Given the description of an element on the screen output the (x, y) to click on. 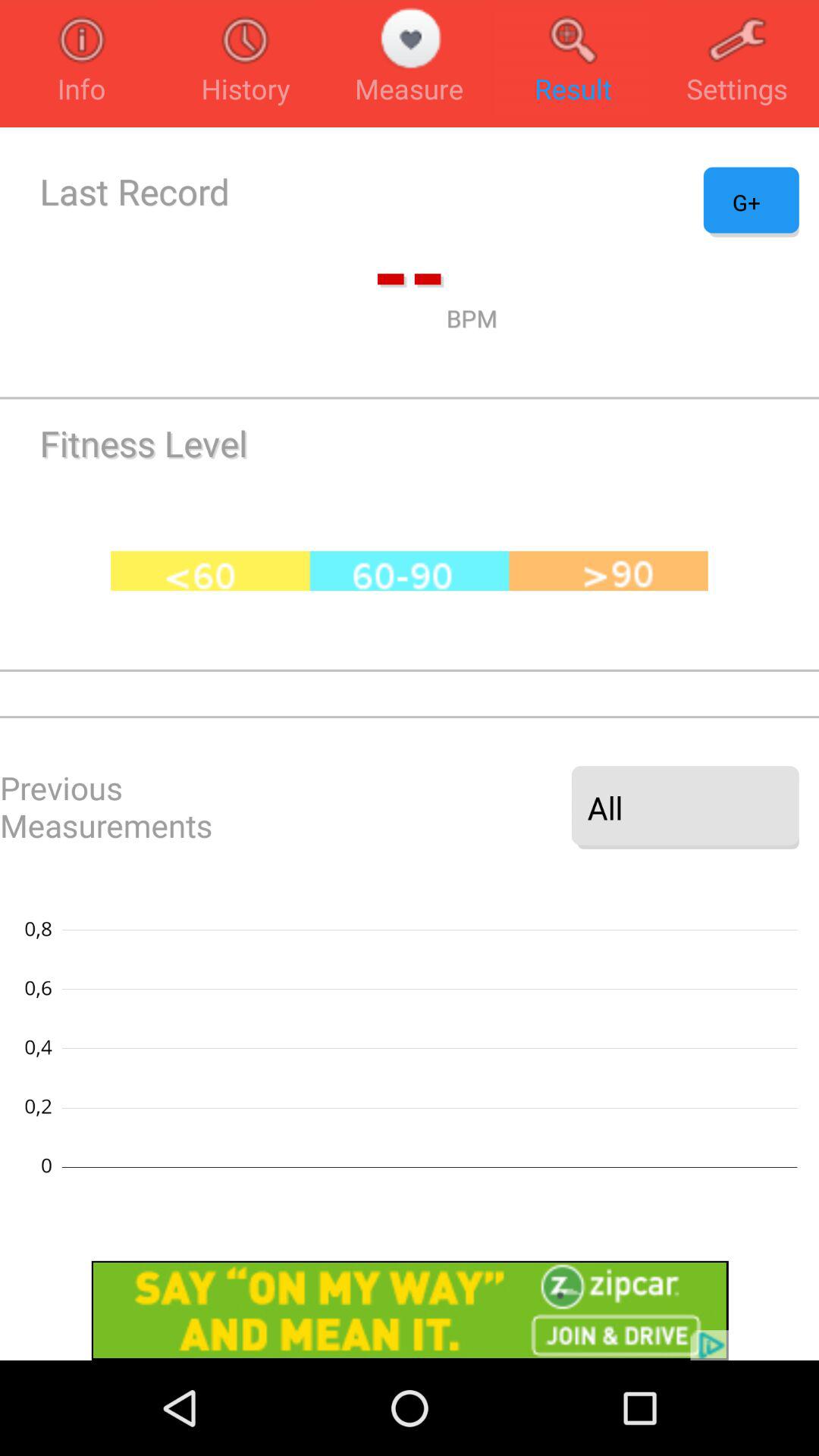
advertisement (409, 1310)
